Given the description of an element on the screen output the (x, y) to click on. 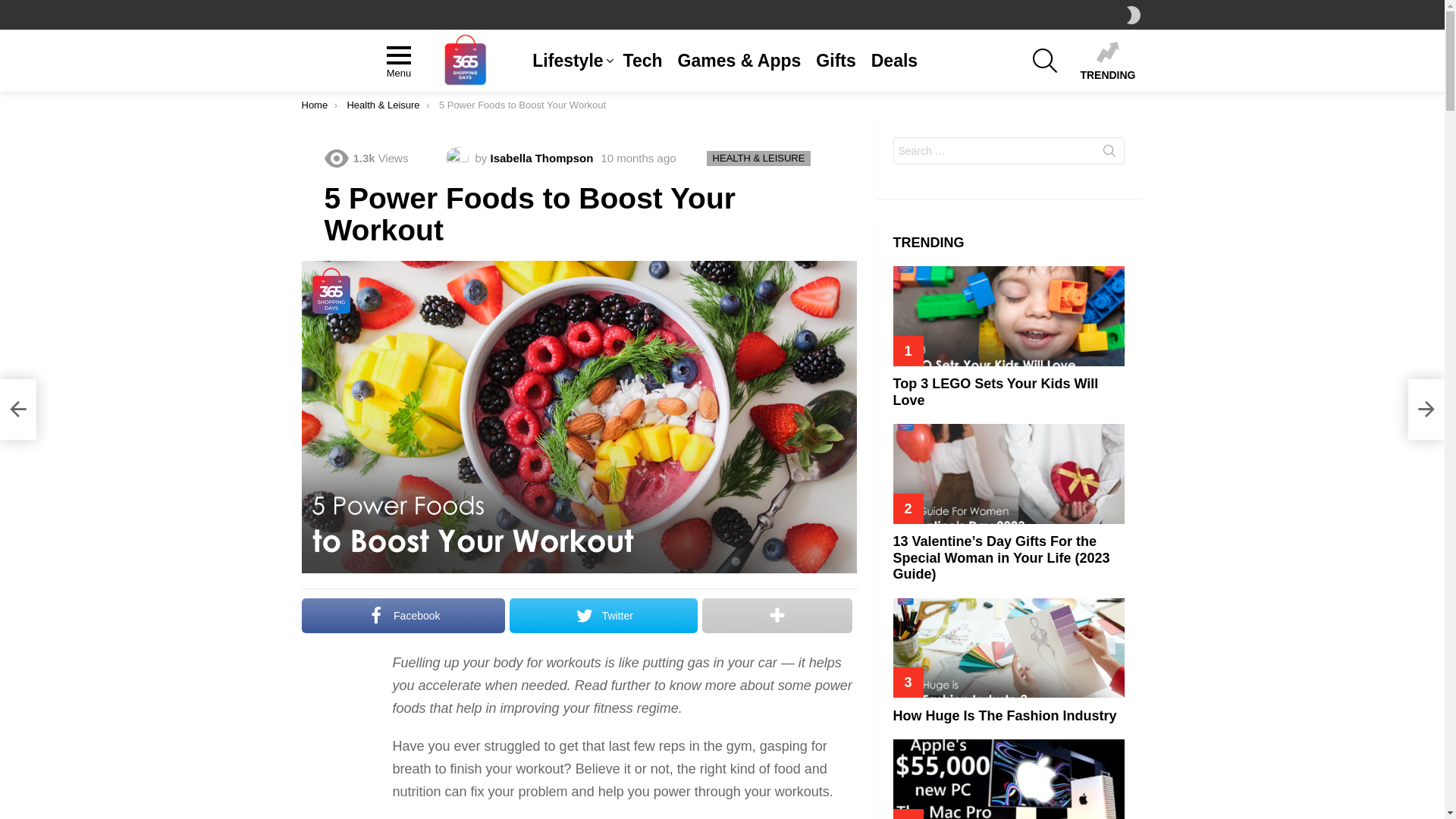
Top 3 LEGO Sets Your Kids Will Love Element type: hover (1009, 315)
Home Element type: text (314, 104)
Twitter Element type: text (603, 615)
Menu Element type: text (398, 60)
Lifestyle Element type: text (569, 60)
Sign up Element type: text (906, 456)
Top 3 LEGO Sets Your Kids Will Love Element type: text (995, 391)
Tech Element type: text (642, 60)
Deals Element type: text (894, 60)
SWITCH SKIN Element type: text (1133, 15)
Health & Leisure Element type: text (382, 104)
SEARCH Element type: text (1044, 60)
Isabella Thompson Element type: text (541, 157)
Gifts Element type: text (835, 60)
Search Element type: text (1109, 153)
Search for: Element type: hover (1009, 150)
How Huge Is The Fashion Industry Element type: text (1426, 409)
HEALTH & LEISURE Element type: text (758, 158)
TRENDING Element type: text (1107, 60)
Facebook Element type: text (403, 615)
How Huge Is The Fashion Industry Element type: hover (1009, 647)
Games & Apps Element type: text (739, 60)
Best Luxury Watches Element type: text (18, 409)
How Huge Is The Fashion Industry Element type: text (1005, 715)
